Given the description of an element on the screen output the (x, y) to click on. 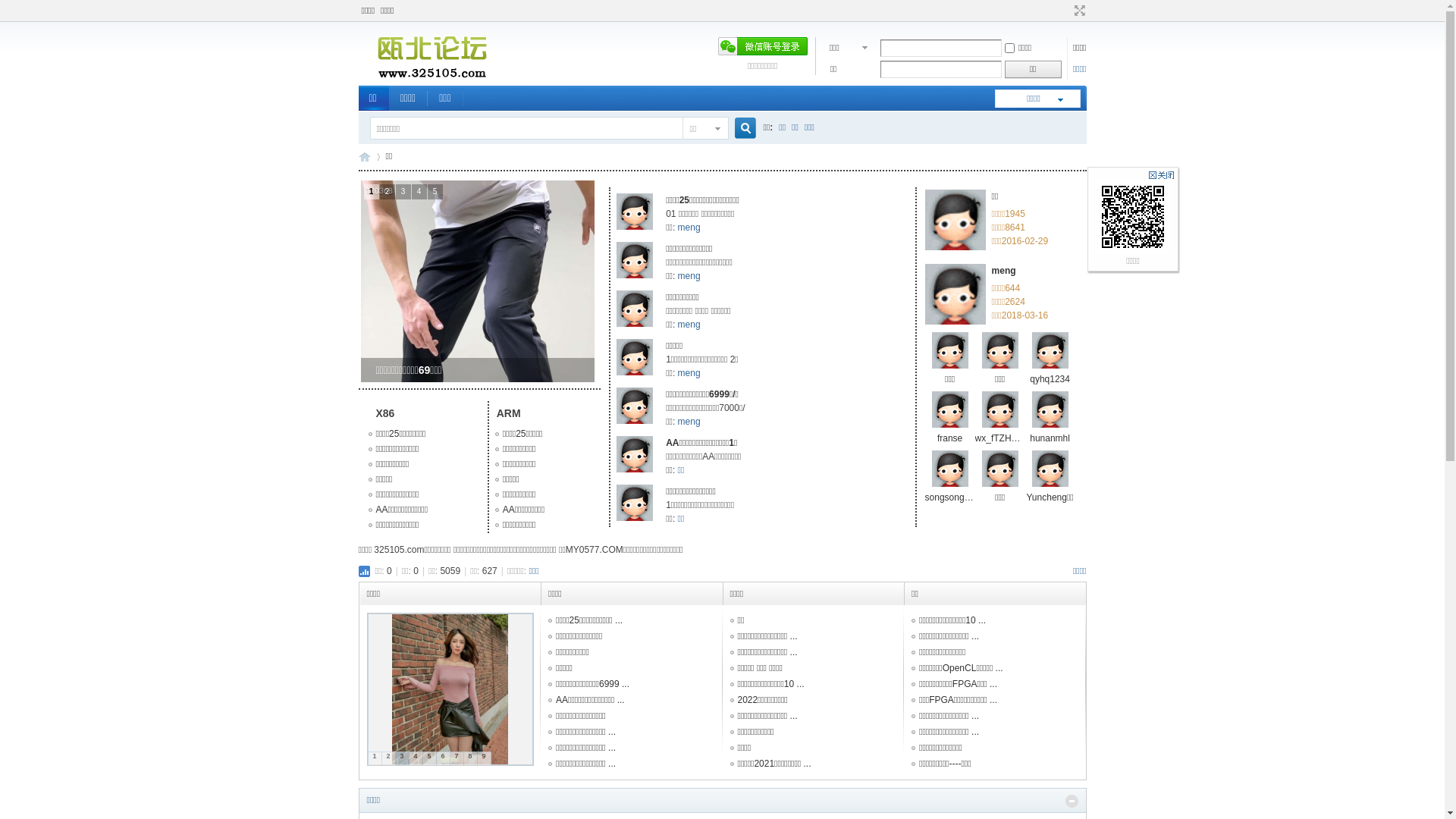
wx_fTZHLtL1 Element type: text (1002, 438)
meng Element type: text (688, 324)
franse Element type: text (949, 438)
meng Element type: text (688, 275)
meng Element type: text (1003, 270)
songsong564646 Element type: text (959, 497)
qyhq1234 Element type: text (1049, 378)
meng Element type: text (688, 372)
true Element type: text (738, 128)
meng Element type: text (688, 227)
hunanmhl Element type: text (1049, 438)
meng Element type: text (688, 421)
